Given the description of an element on the screen output the (x, y) to click on. 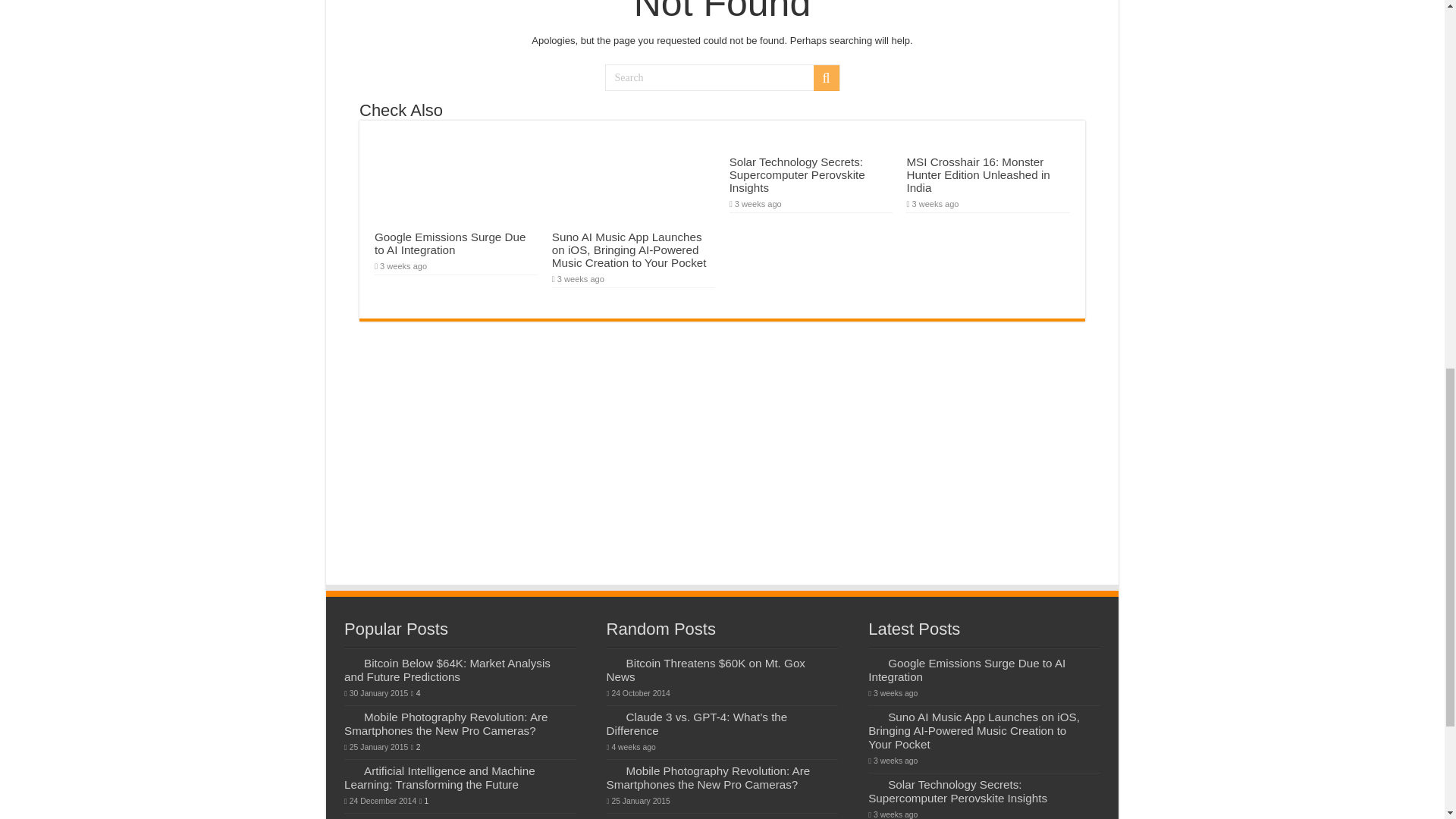
Solar Technology Secrets: Supercomputer Perovskite Insights (796, 174)
MSI Crosshair 16: Monster Hunter Edition Unleashed in India (977, 174)
Search (722, 77)
Google Emissions Surge Due to AI Integration (449, 243)
Search (825, 77)
